Given the description of an element on the screen output the (x, y) to click on. 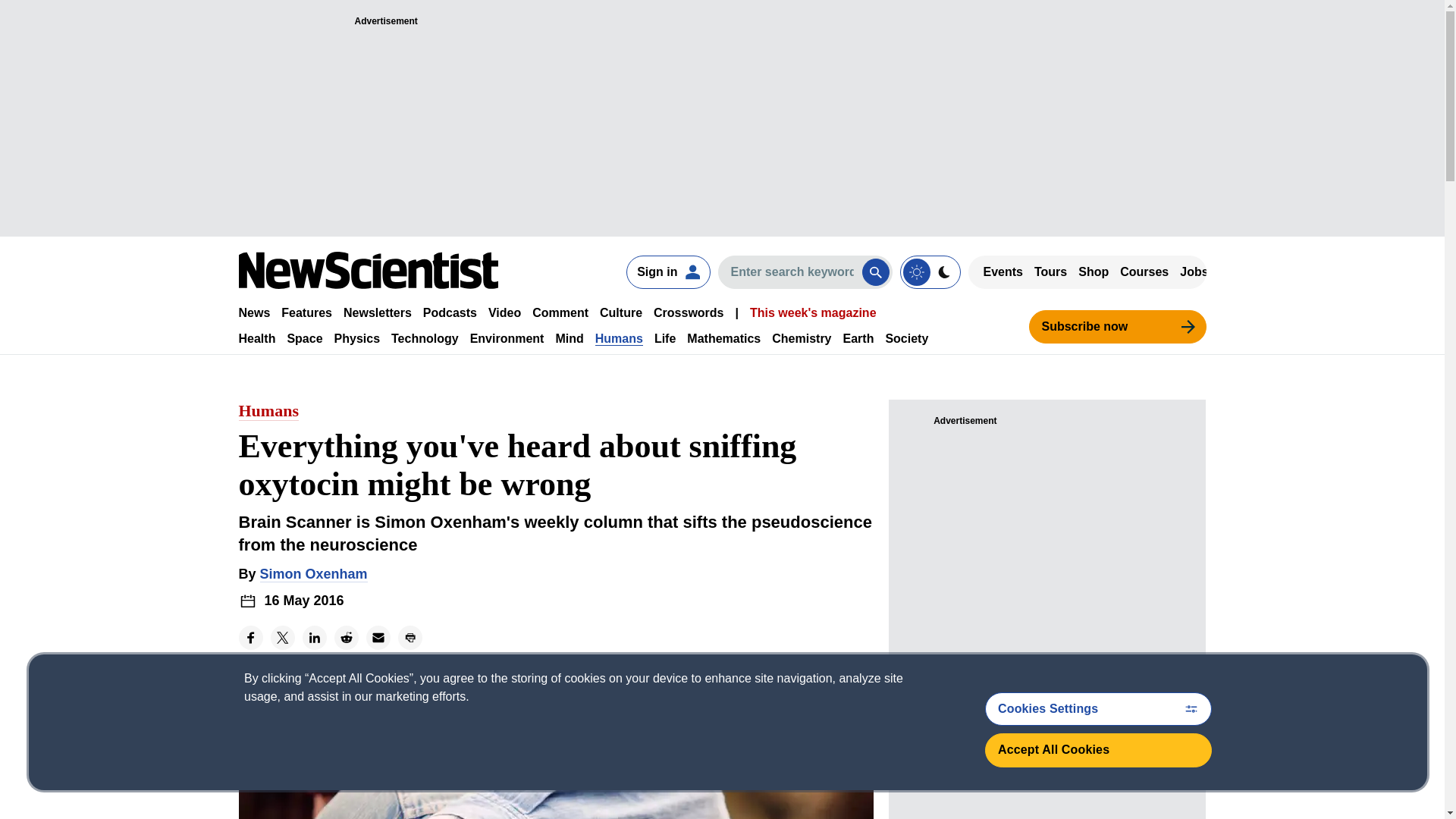
Tours (1050, 272)
Mathematics (723, 338)
Sign In page link (668, 272)
Link to the homepage (367, 270)
Culture (620, 313)
on (929, 272)
This week's magazine (812, 313)
Subscribe now (1116, 326)
Calendar icon (247, 600)
Jobs (1193, 272)
Chemistry (801, 338)
Newsletters (377, 313)
Physics (357, 338)
Humans (619, 338)
